Given the description of an element on the screen output the (x, y) to click on. 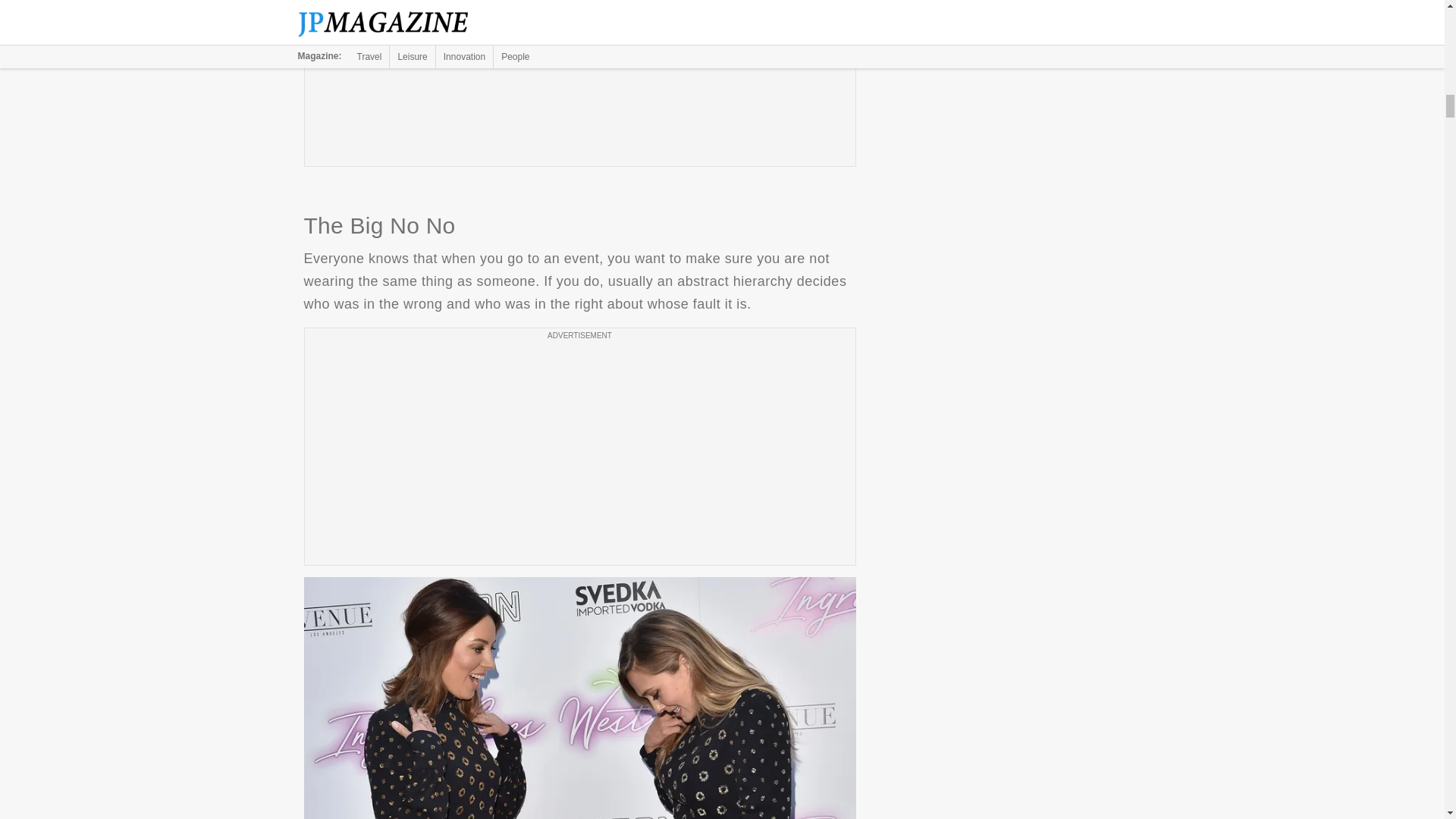
The Big No No (579, 698)
